Given the description of an element on the screen output the (x, y) to click on. 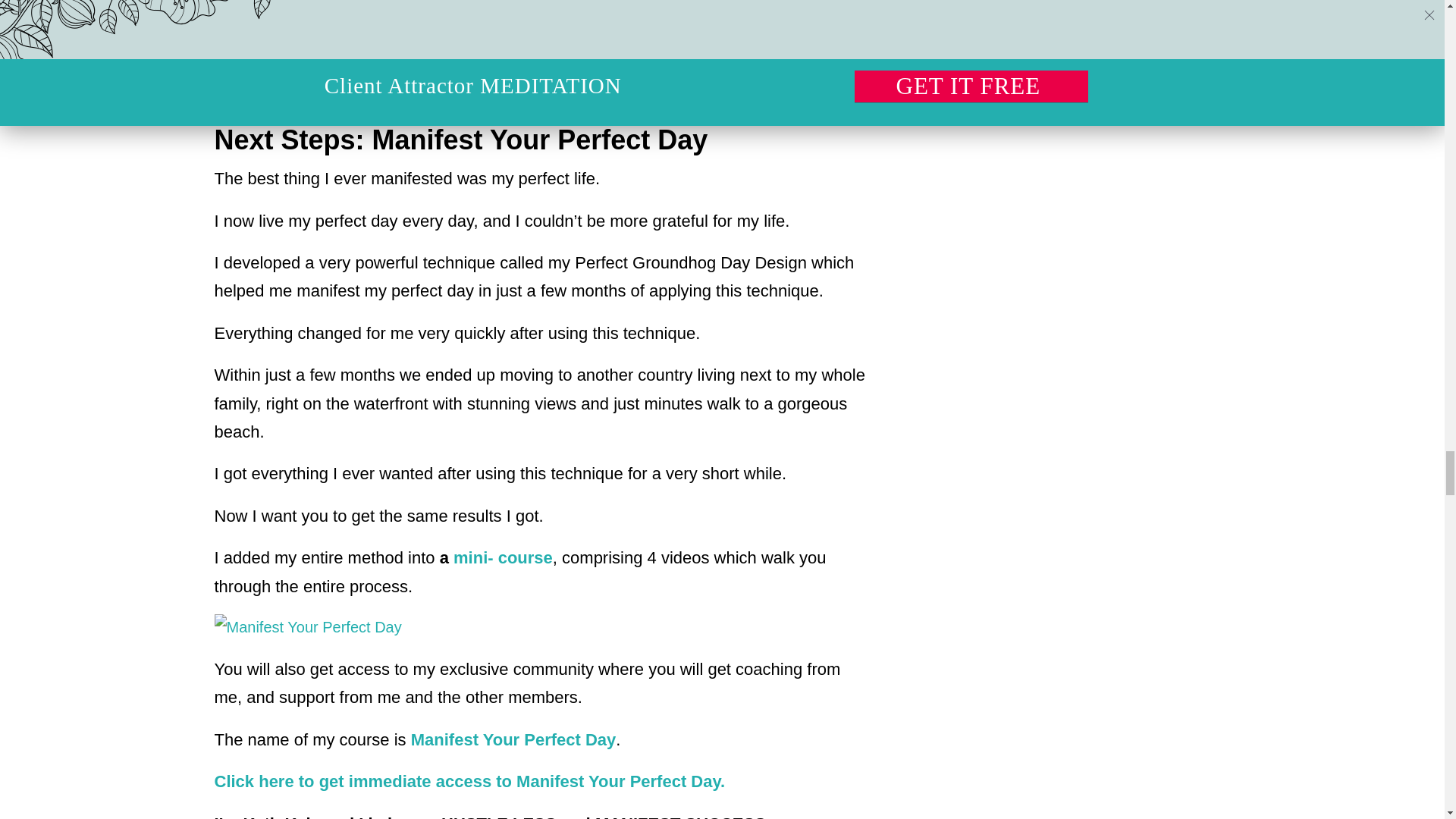
mini- course (502, 557)
What Is Manifestation (609, 24)
Manifest Your Perfect Day (512, 739)
